Given the description of an element on the screen output the (x, y) to click on. 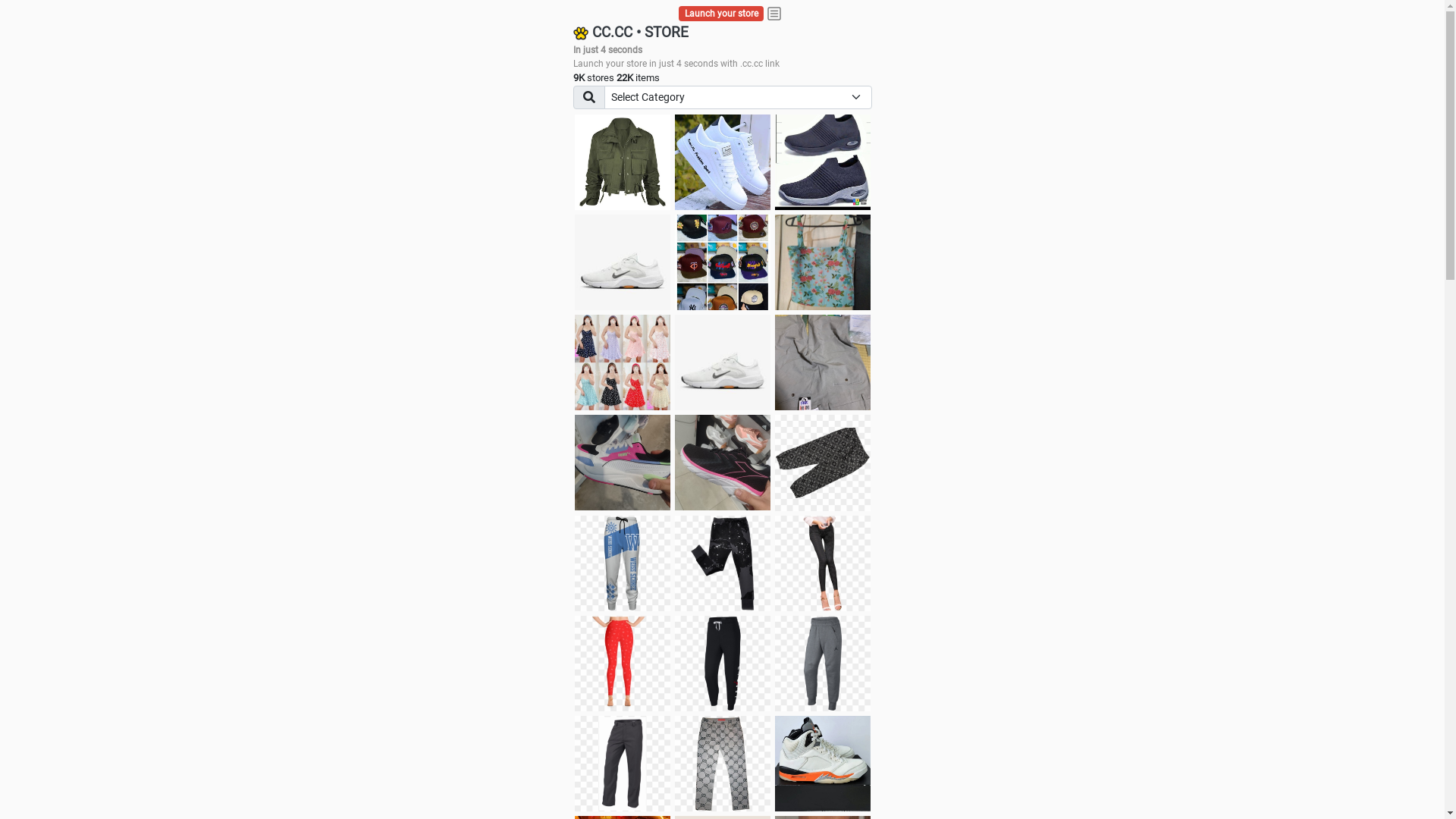
Pant Element type: hover (822, 563)
Shoe Element type: hover (822, 763)
Pant Element type: hover (622, 563)
Pant Element type: hover (722, 663)
Things we need Element type: hover (722, 262)
Ukay cloth Element type: hover (822, 262)
white shoes Element type: hover (722, 162)
Pant Element type: hover (722, 763)
jacket Element type: hover (622, 162)
Pant Element type: hover (622, 663)
Launch your store Element type: text (721, 13)
Pant Element type: hover (622, 763)
Zapatillas pumas Element type: hover (622, 462)
shoes for boys Element type: hover (822, 162)
Shoes for boys Element type: hover (622, 262)
Pant Element type: hover (822, 663)
Shoes Element type: hover (722, 362)
Short pant Element type: hover (822, 462)
Pant Element type: hover (722, 563)
Dress/square nect top Element type: hover (622, 362)
Zapatillas Element type: hover (722, 462)
